Given the description of an element on the screen output the (x, y) to click on. 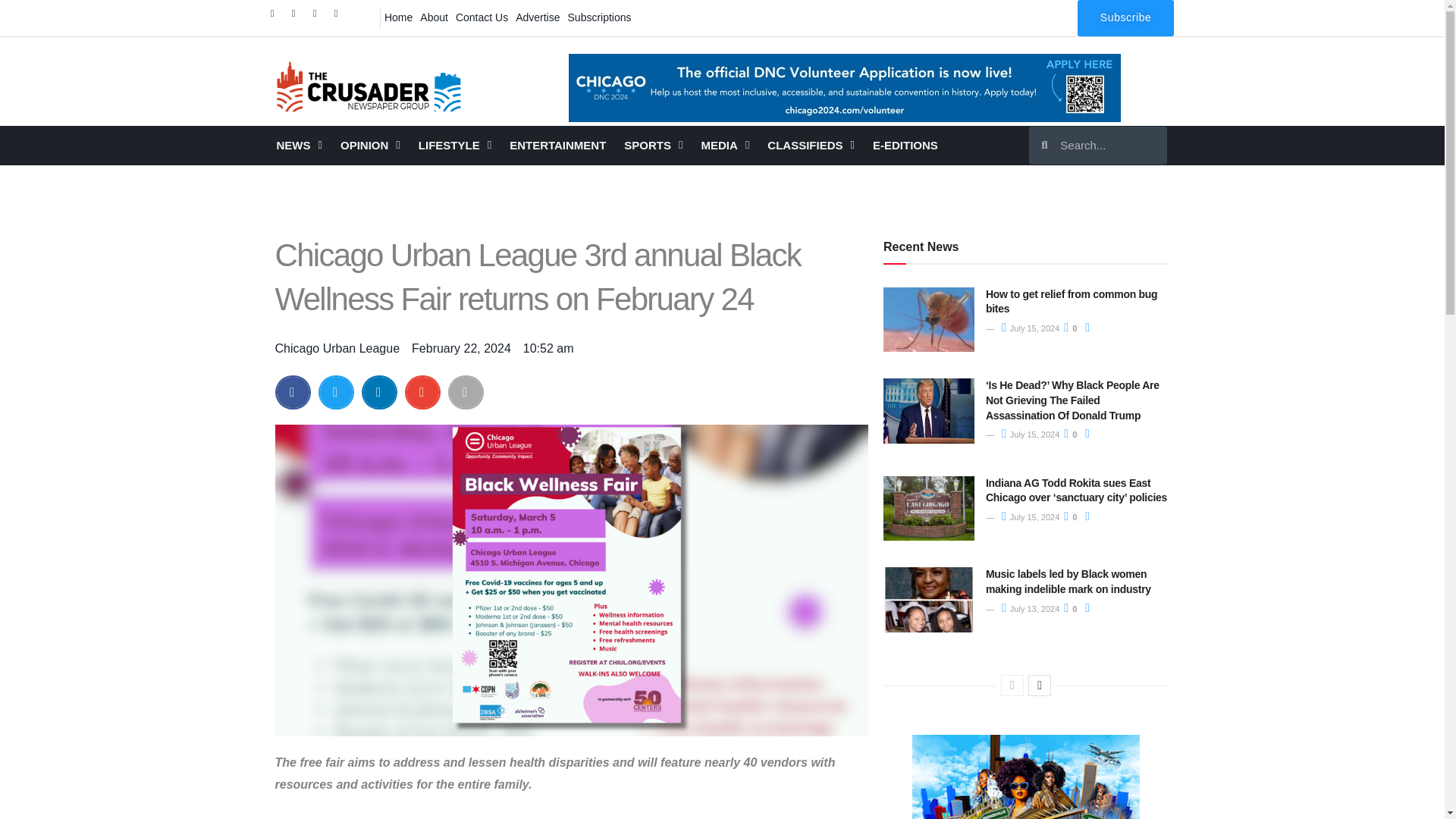
Youtube (340, 17)
Facebook-f (276, 17)
About (433, 17)
Subscriptions (599, 17)
Contact Us (481, 17)
Next (1039, 685)
Instagram (318, 17)
LIFESTYLE (454, 145)
BWE-72 Hours to Chicago-Square-June 2024 (1026, 776)
Previous (1012, 685)
Home (398, 17)
Subscribe (1125, 18)
DNC-Leaderboard--June Campaign 2024 (845, 88)
NEWS (298, 145)
Advertise (537, 17)
